Given the description of an element on the screen output the (x, y) to click on. 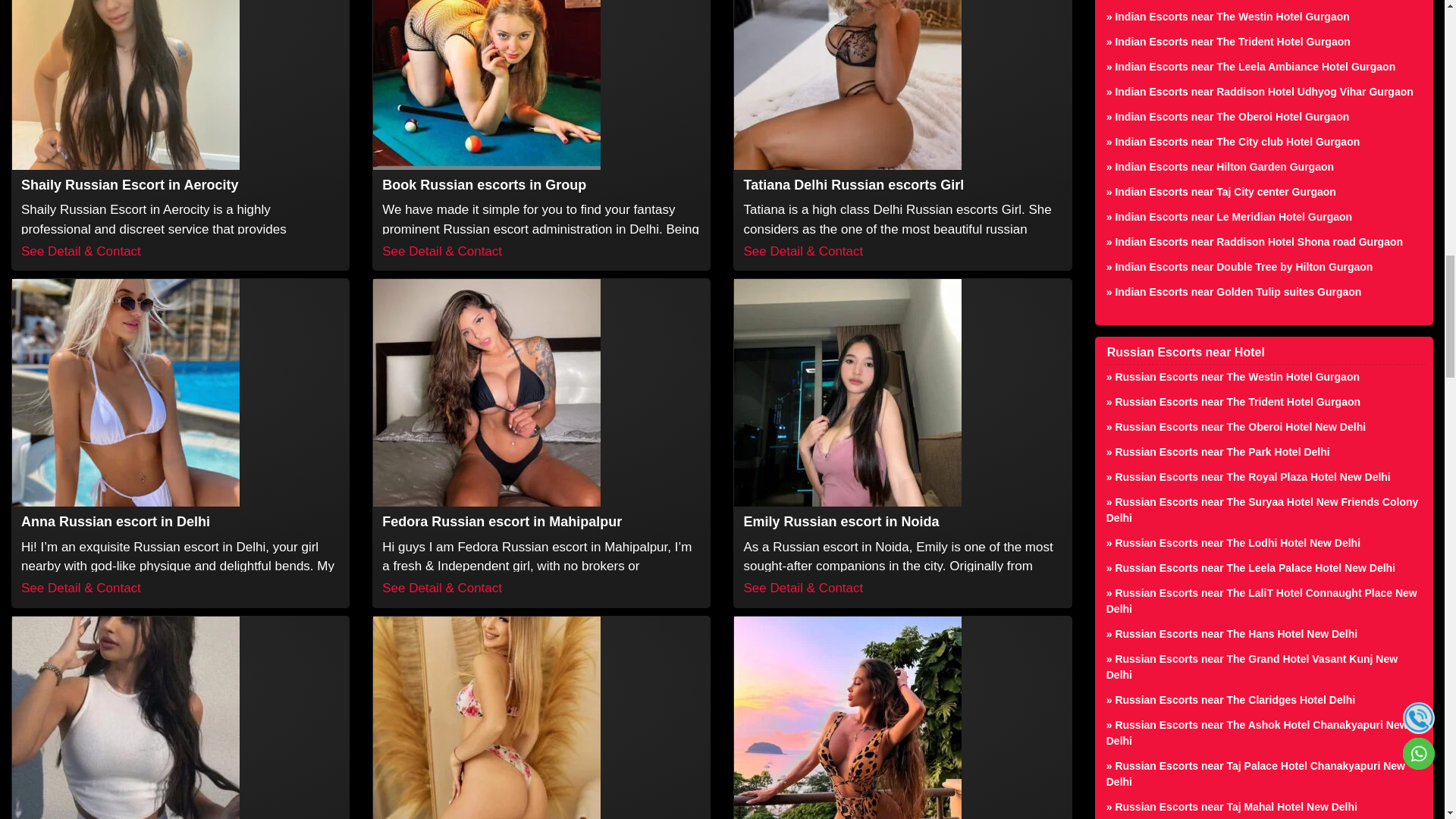
Shaily Russian Escort in Aerocity (129, 184)
